Given the description of an element on the screen output the (x, y) to click on. 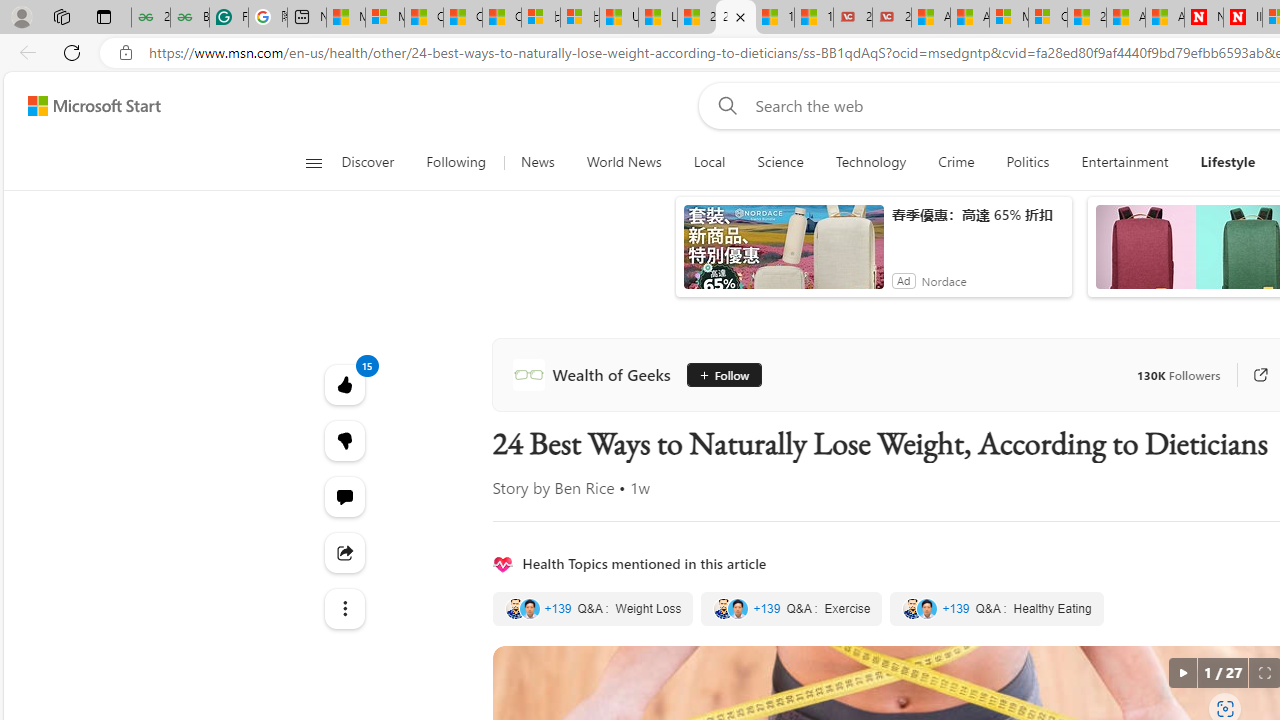
Share this story (343, 552)
Go to publisher's site (1250, 374)
Best SSL Certificates Provider in India - GeeksforGeeks (189, 17)
Class: at-item (343, 609)
Exercise (792, 608)
Illness news & latest pictures from Newsweek.com (1242, 17)
